Given the description of an element on the screen output the (x, y) to click on. 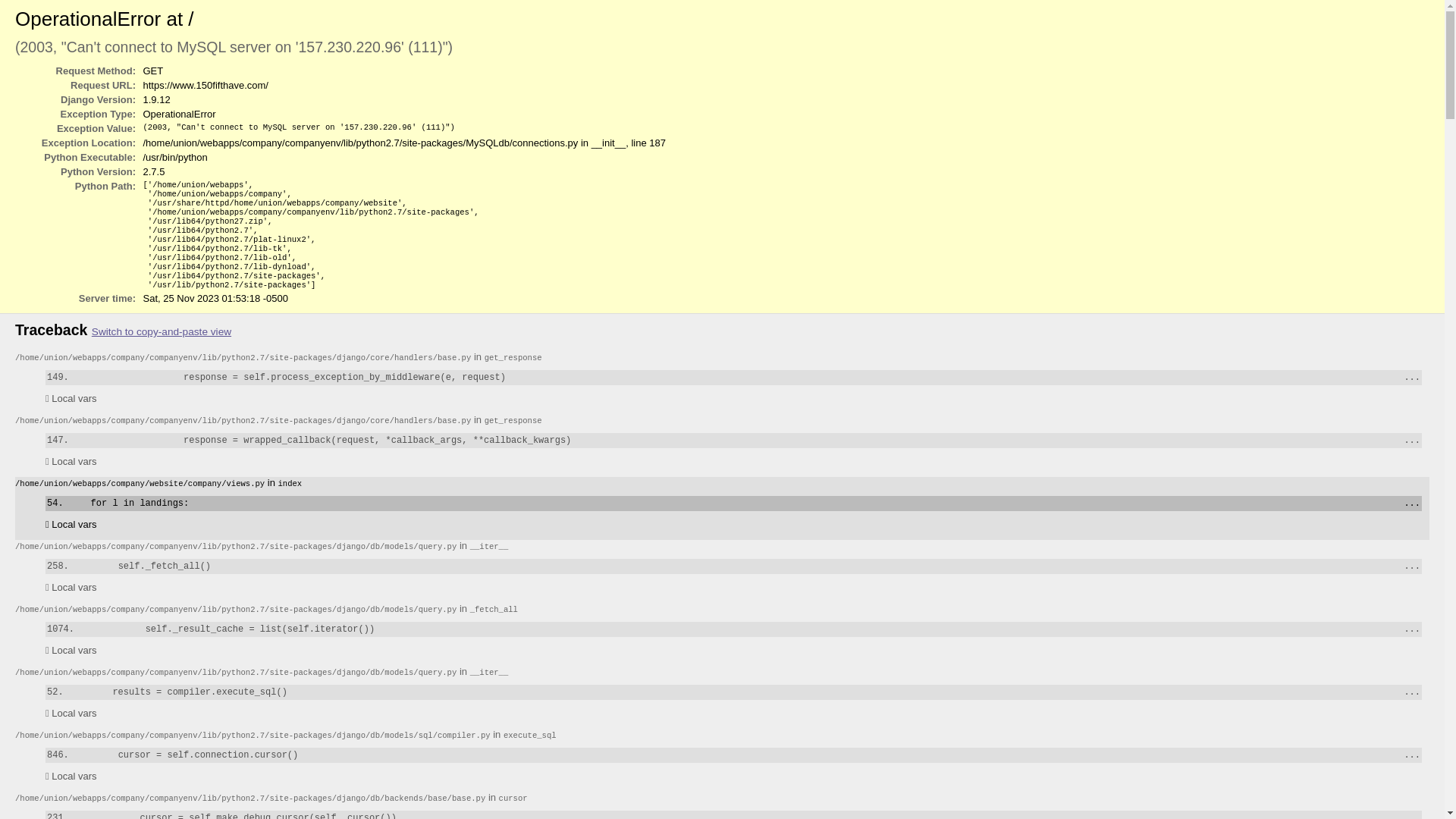
            self._result_cache = list(self.iterator()) 
... Element type: text (733, 629)
        results = compiler.execute_sql() 
... Element type: text (733, 691)
        self._fetch_all() 
... Element type: text (733, 566)
Switch to copy-and-paste view Element type: text (161, 331)
 for l in landings: 
... Element type: text (733, 503)
        cursor = self.connection.cursor() 
... Element type: text (733, 754)
